Given the description of an element on the screen output the (x, y) to click on. 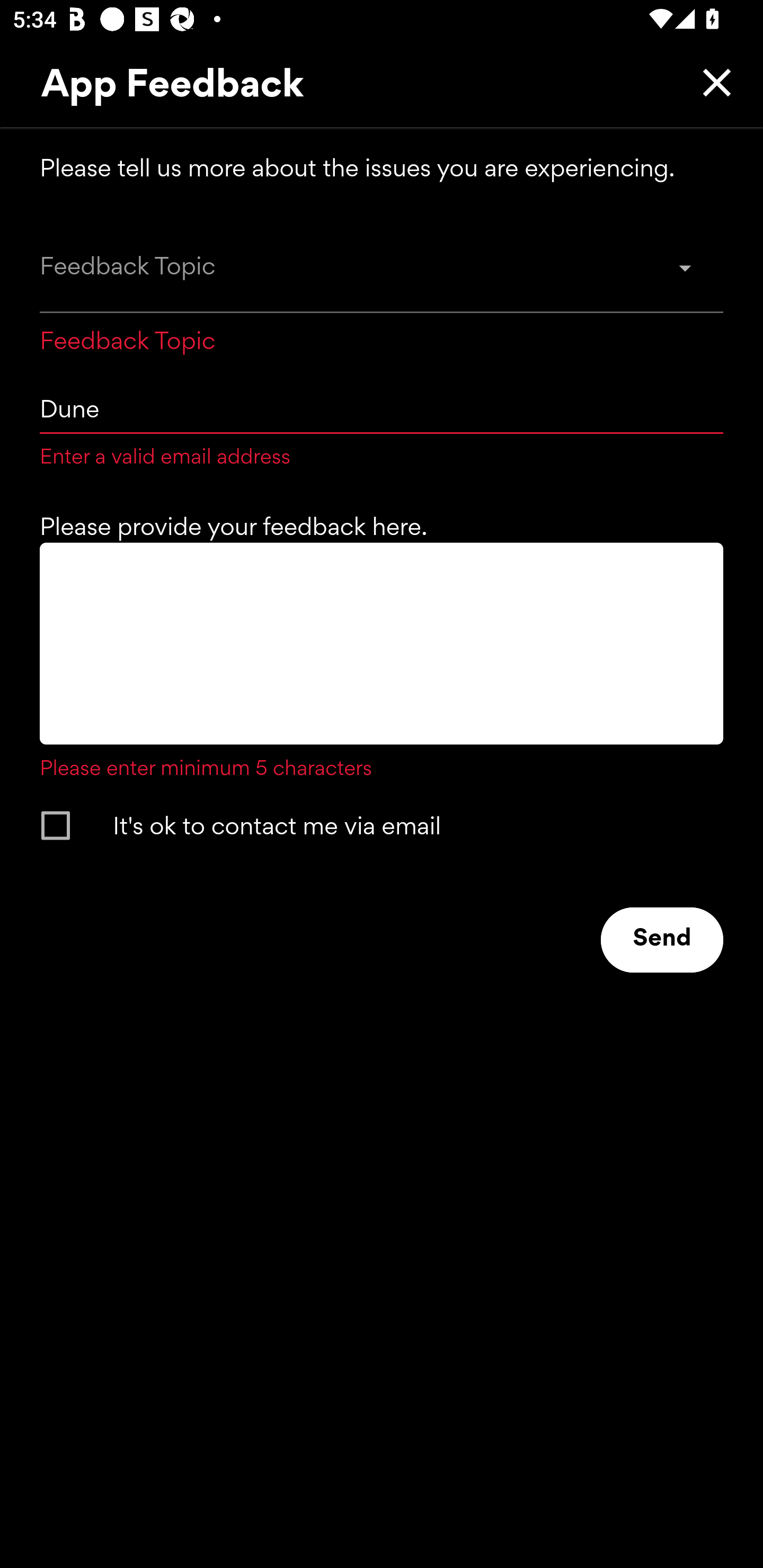
Close (712, 82)
Dune Enter a valid email address (381, 421)
Please enter minimum 5 characters (381, 661)
It's ok to contact me via email (365, 825)
Send (662, 939)
